Given the description of an element on the screen output the (x, y) to click on. 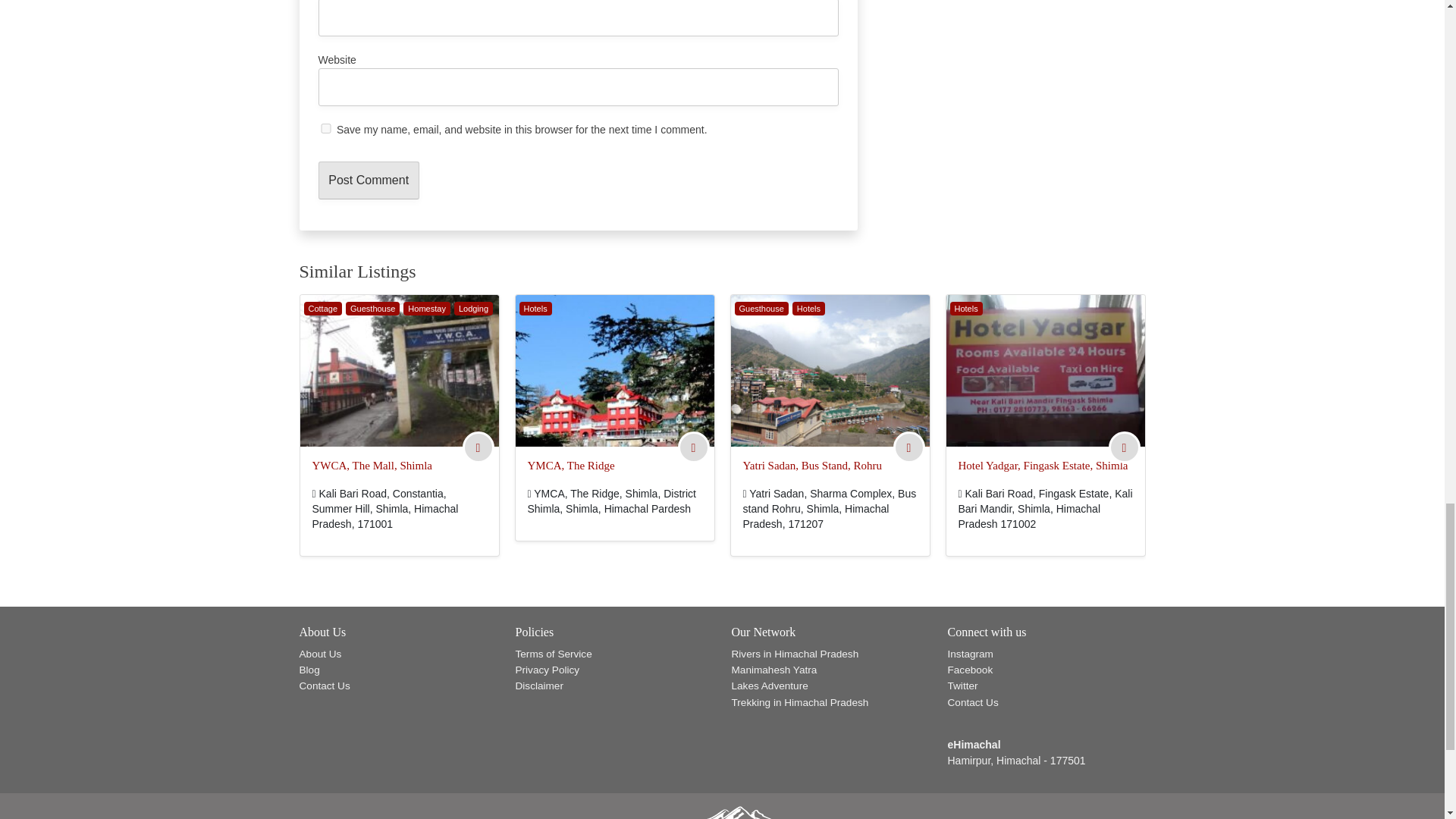
Login (478, 448)
yes (326, 128)
Post Comment (368, 180)
Login (1123, 448)
Login (692, 448)
Login (908, 448)
